Given the description of an element on the screen output the (x, y) to click on. 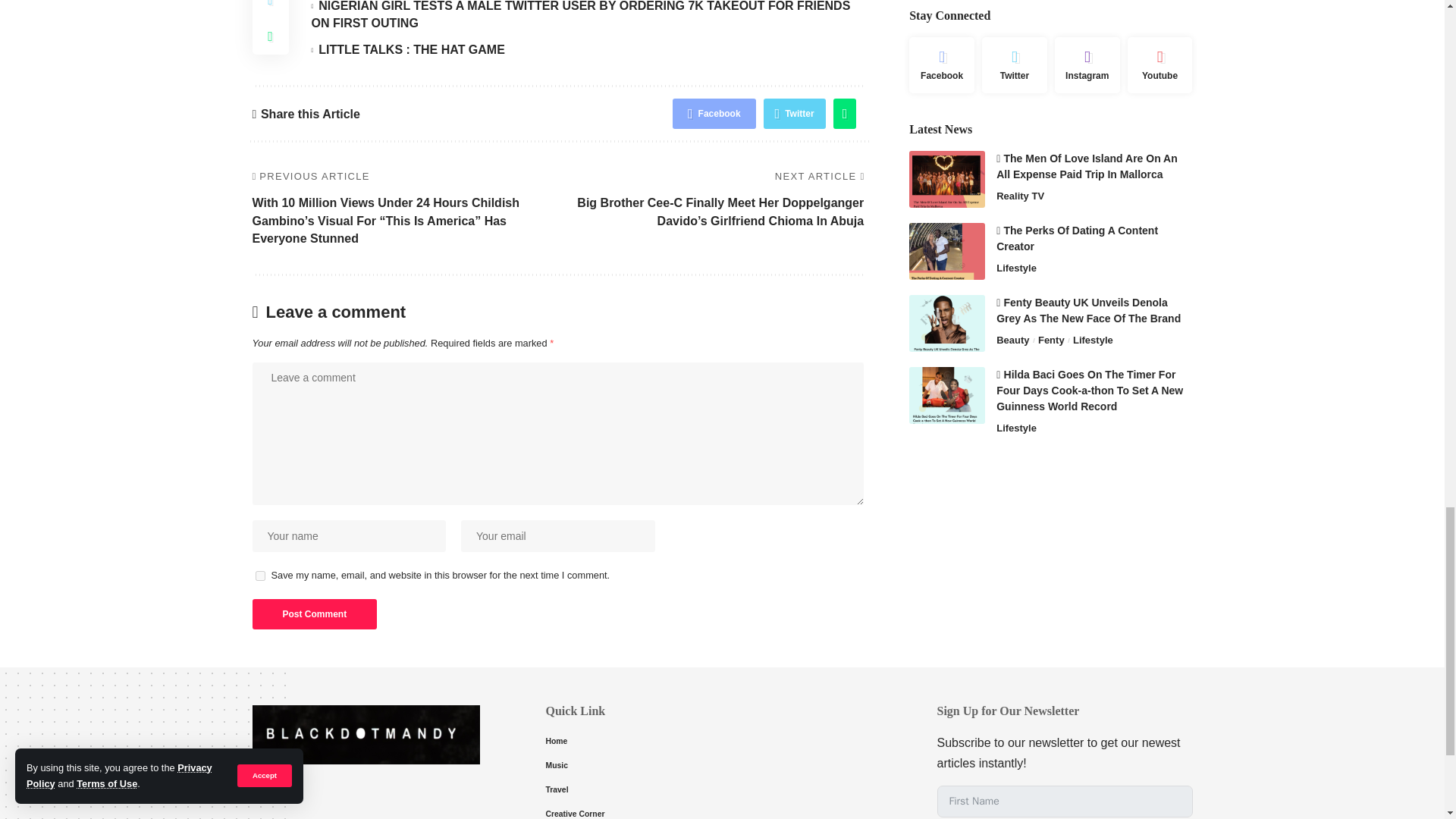
Post Comment (314, 613)
yes (259, 575)
